Given the description of an element on the screen output the (x, y) to click on. 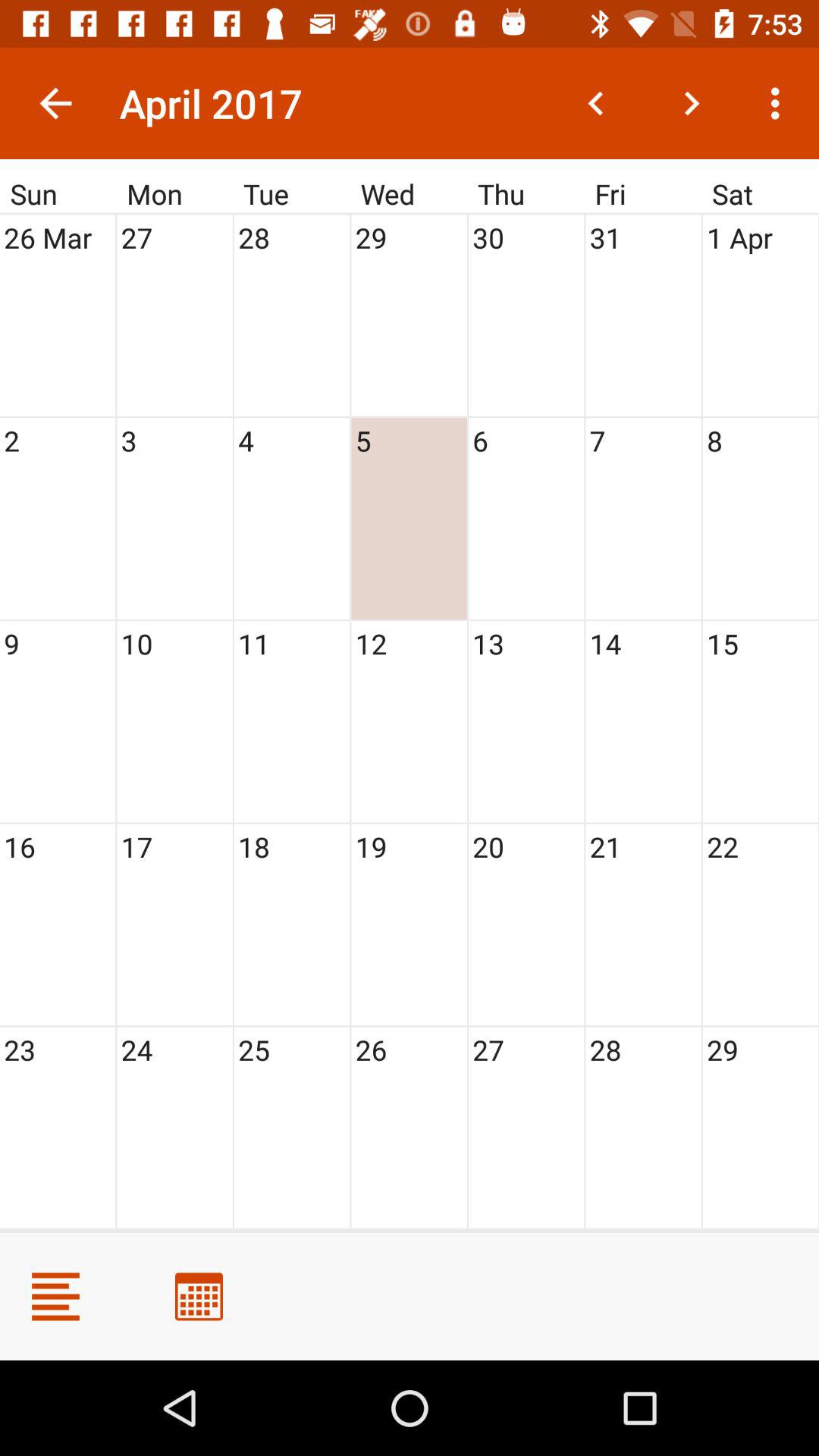
press item to the left of april 2017 (55, 103)
